Given the description of an element on the screen output the (x, y) to click on. 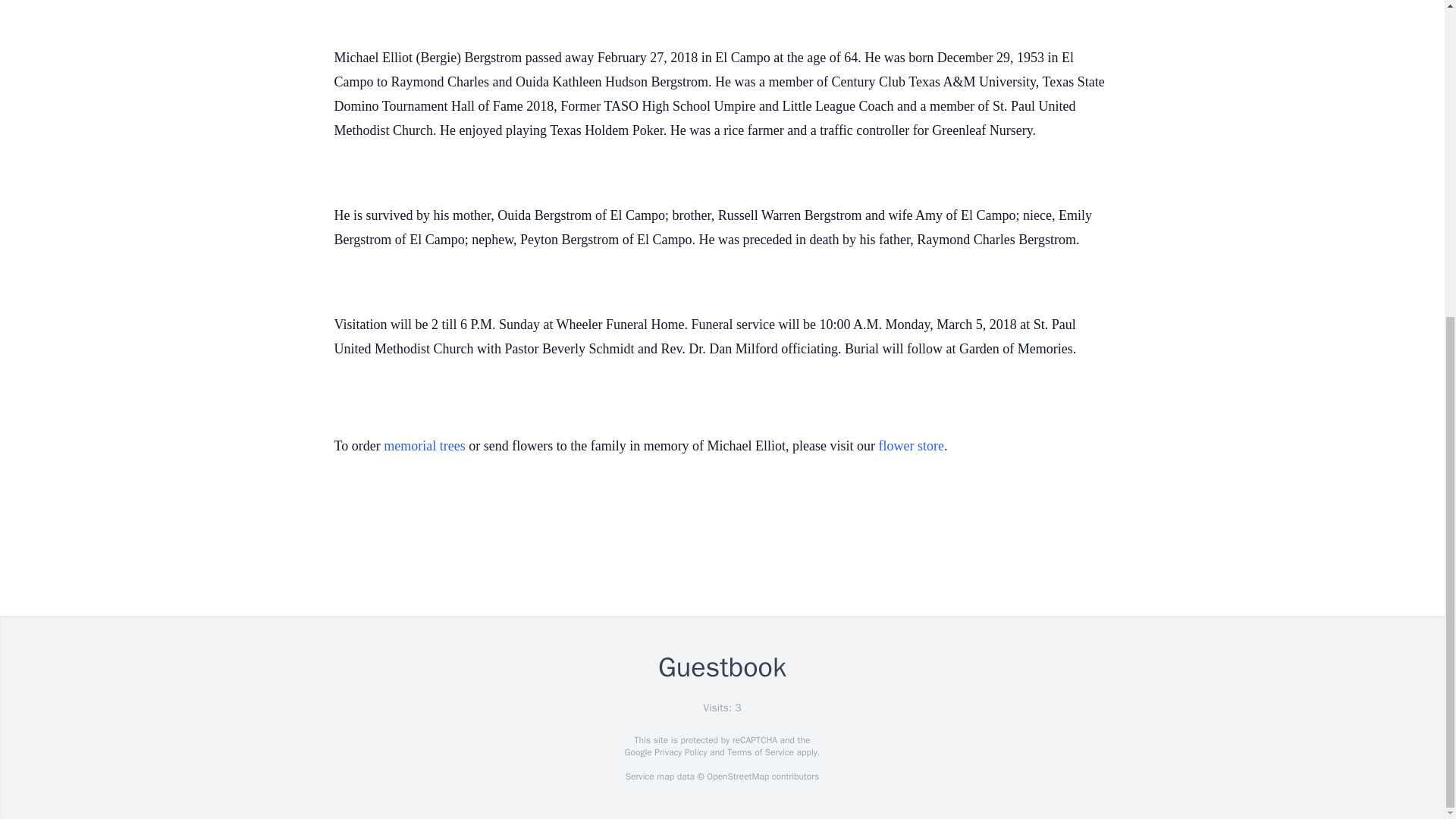
Privacy Policy (679, 752)
flower store (911, 445)
OpenStreetMap (737, 776)
Terms of Service (759, 752)
memorial trees (424, 445)
